Given the description of an element on the screen output the (x, y) to click on. 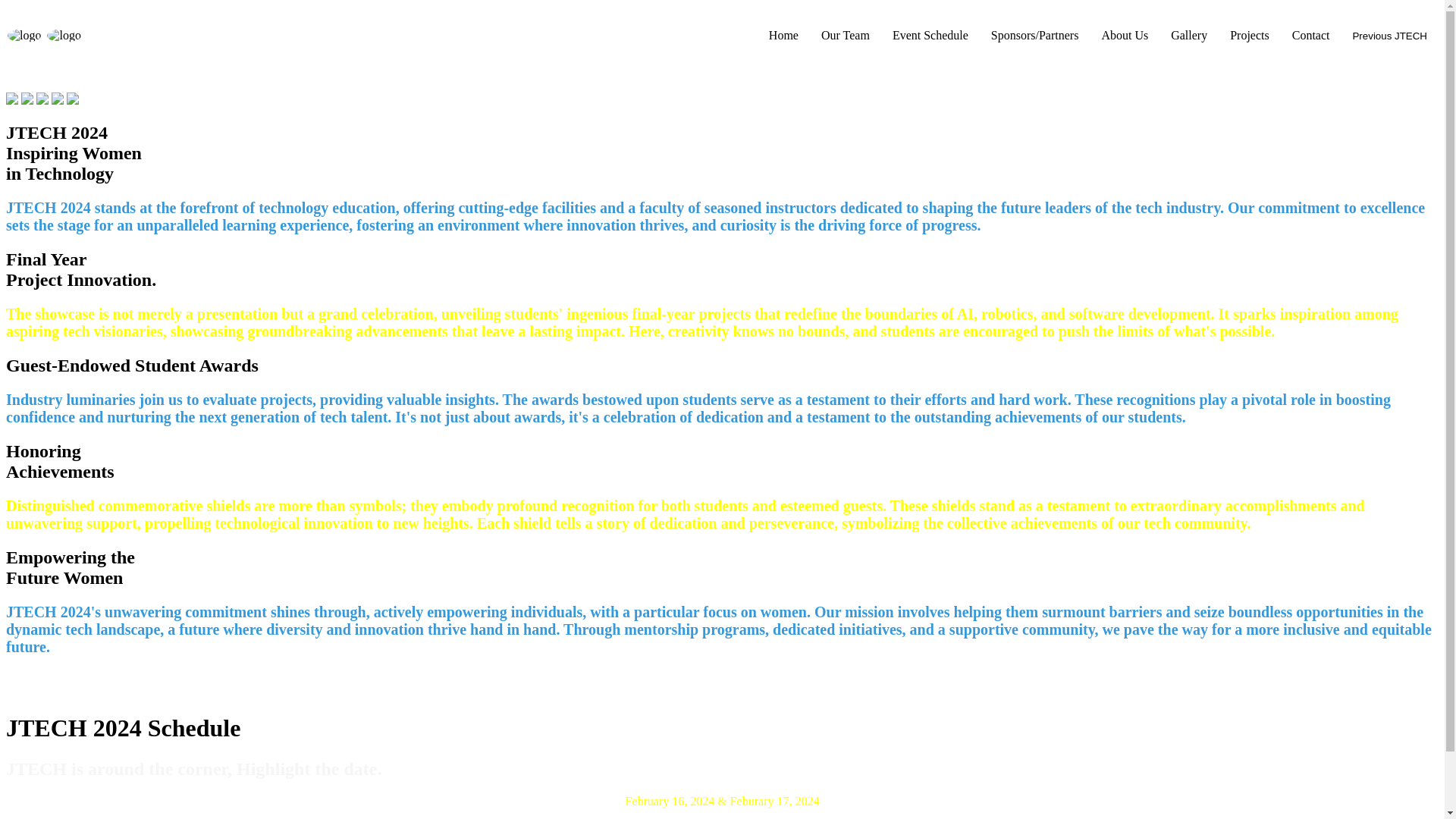
Our Team (844, 35)
Contact (1310, 35)
Gallery (1188, 35)
Home (783, 35)
Projects (1249, 35)
About Us (1123, 35)
Event Schedule (929, 35)
